Given the description of an element on the screen output the (x, y) to click on. 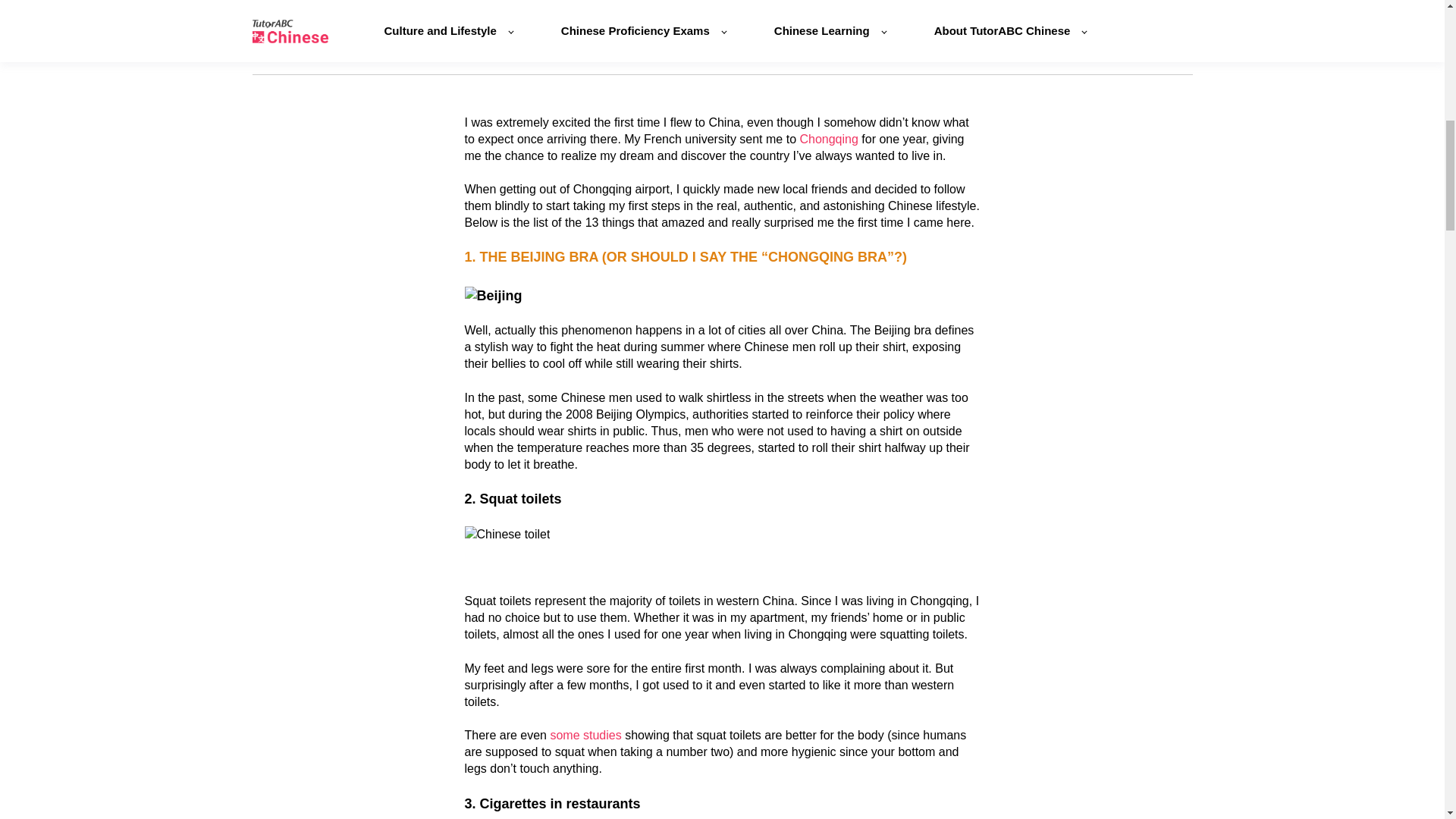
Chongqing (828, 138)
some studies (585, 735)
